Given the description of an element on the screen output the (x, y) to click on. 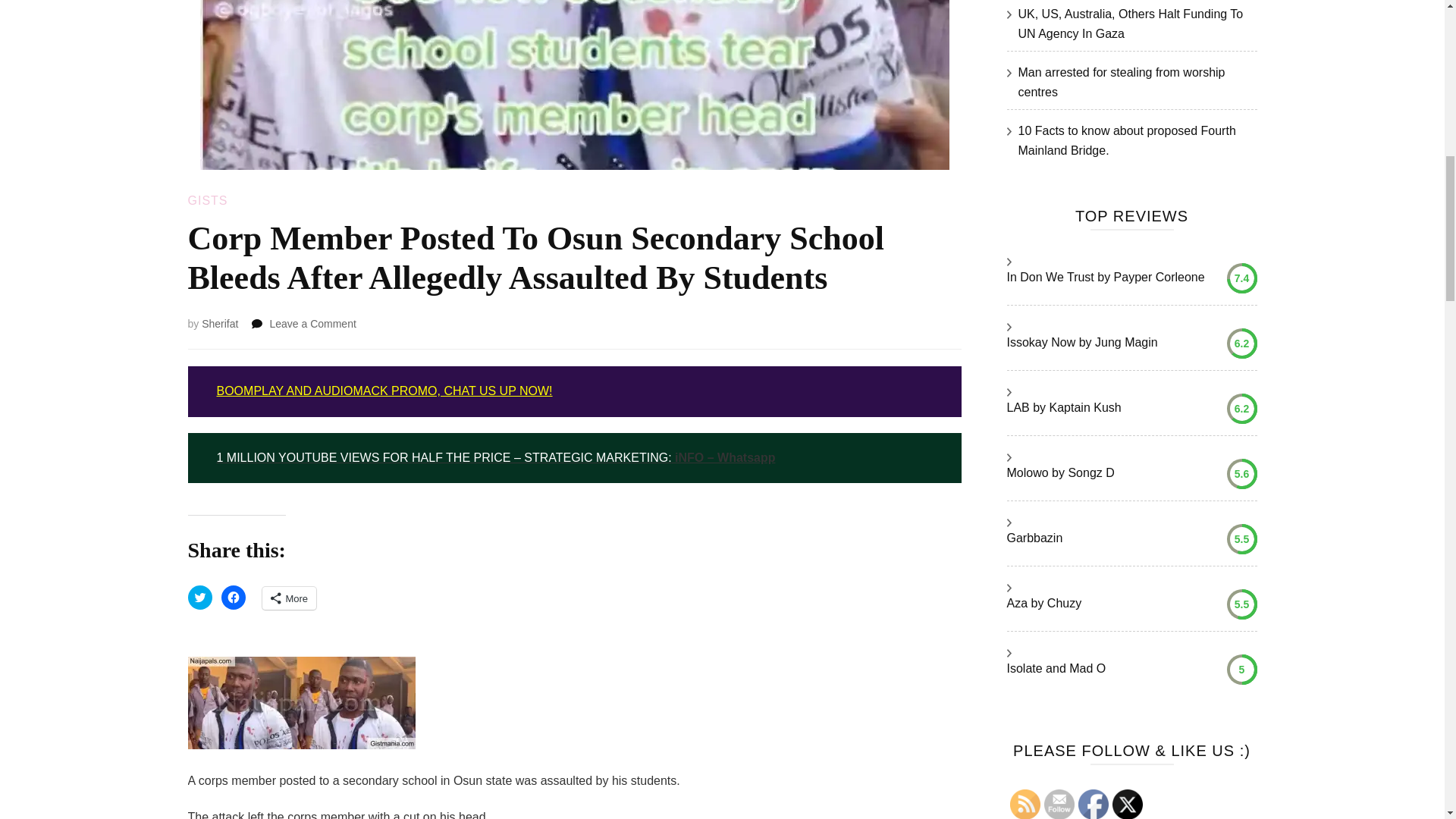
Click to share on Facebook (233, 597)
Click to share on Twitter (199, 597)
